Given the description of an element on the screen output the (x, y) to click on. 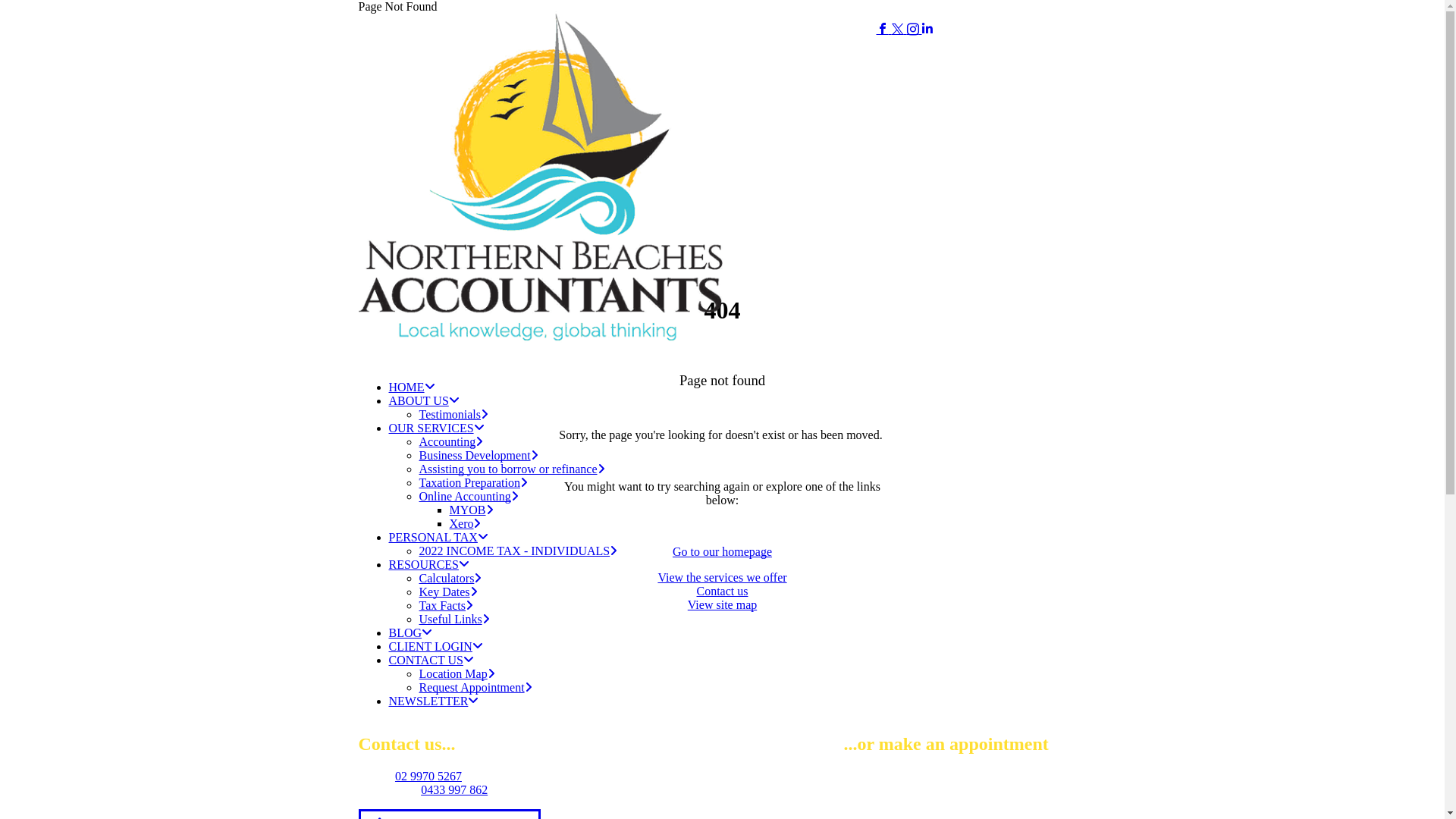
Testimonials Element type: text (453, 413)
Key Dates Element type: text (447, 591)
Accounting Element type: text (450, 441)
NEWSLETTER Element type: text (433, 700)
CONTACT US Element type: text (430, 659)
Go to our homepage Element type: text (721, 551)
Request Appointment Element type: text (474, 686)
Tax Facts Element type: text (445, 605)
RESOURCES Element type: text (428, 564)
2022 INCOME TAX - INDIVIDUALS Element type: text (517, 550)
View site map Element type: text (721, 604)
Business Development Element type: text (477, 454)
0433 997 862 Element type: text (453, 789)
OUR SERVICES Element type: text (435, 427)
Online Accounting Element type: text (467, 495)
PERSONAL TAX Element type: text (437, 536)
MYOB Element type: text (470, 509)
Taxation Preparation Element type: text (472, 482)
Location Map Element type: text (456, 673)
View the services we offer Element type: text (721, 577)
BLOG Element type: text (410, 632)
Contact us Element type: text (721, 590)
HOME Element type: text (411, 386)
Useful Links Element type: text (453, 618)
CLIENT LOGIN Element type: text (435, 646)
Xero Element type: text (464, 523)
02 9970 5267 Element type: text (428, 775)
ABOUT US Element type: text (423, 400)
Calculators Element type: text (449, 577)
Assisting you to borrow or refinance Element type: text (511, 468)
